Given the description of an element on the screen output the (x, y) to click on. 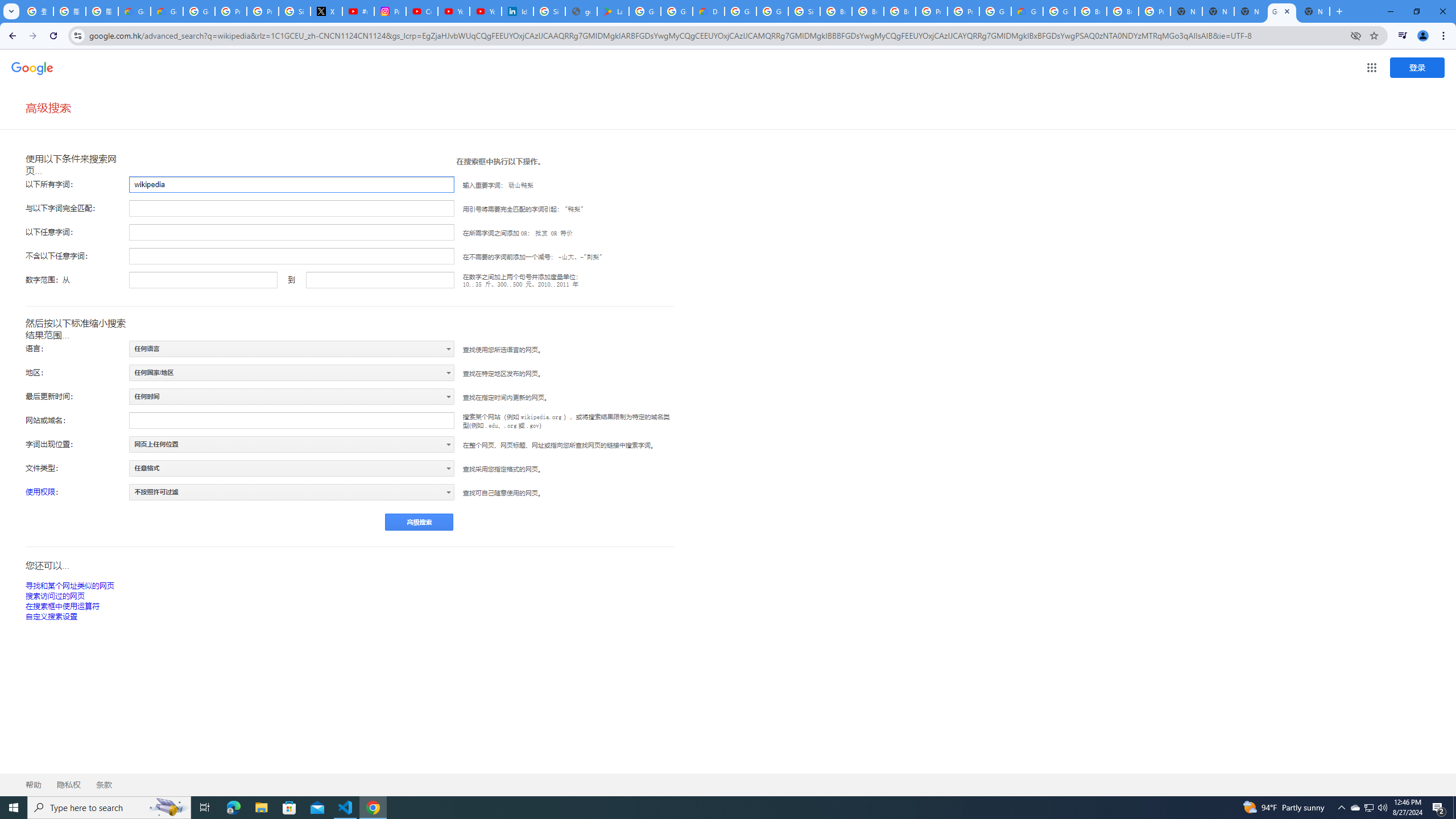
New Tab (1185, 11)
Last Shelter: Survival - Apps on Google Play (613, 11)
YouTube Culture & Trends - YouTube Top 10, 2021 (485, 11)
